Given the description of an element on the screen output the (x, y) to click on. 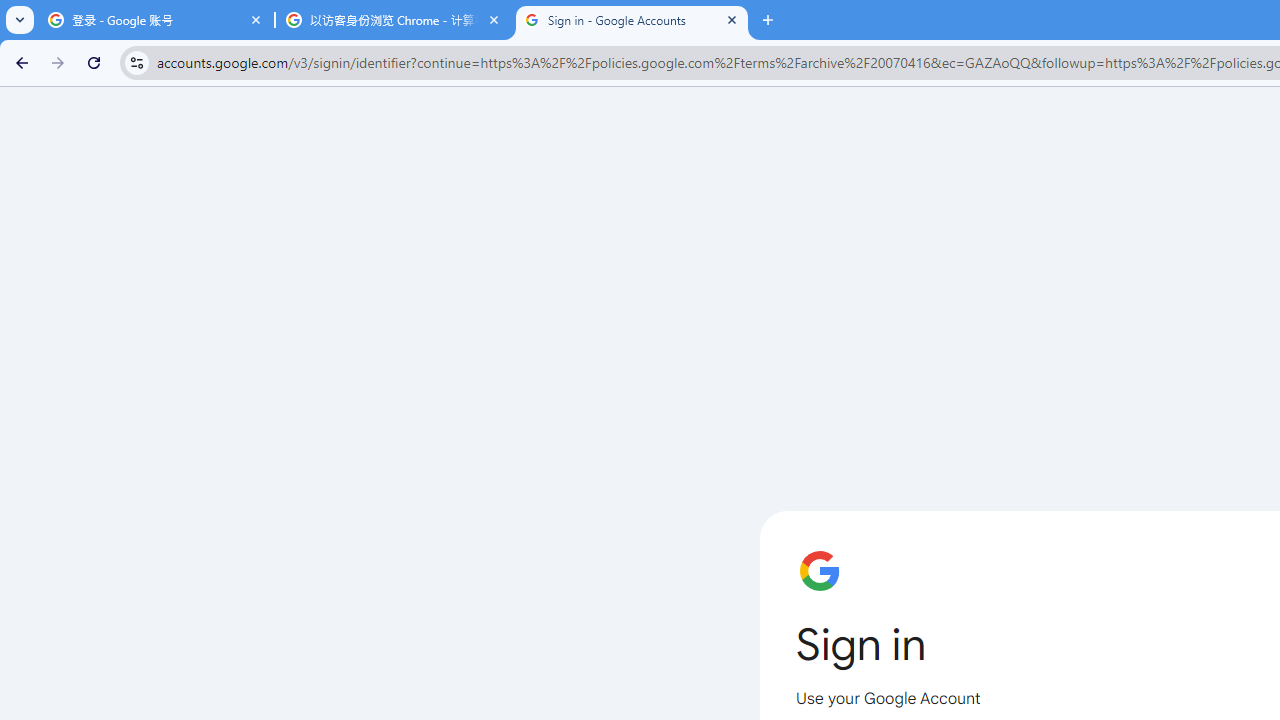
Sign in - Google Accounts (632, 20)
